Given the description of an element on the screen output the (x, y) to click on. 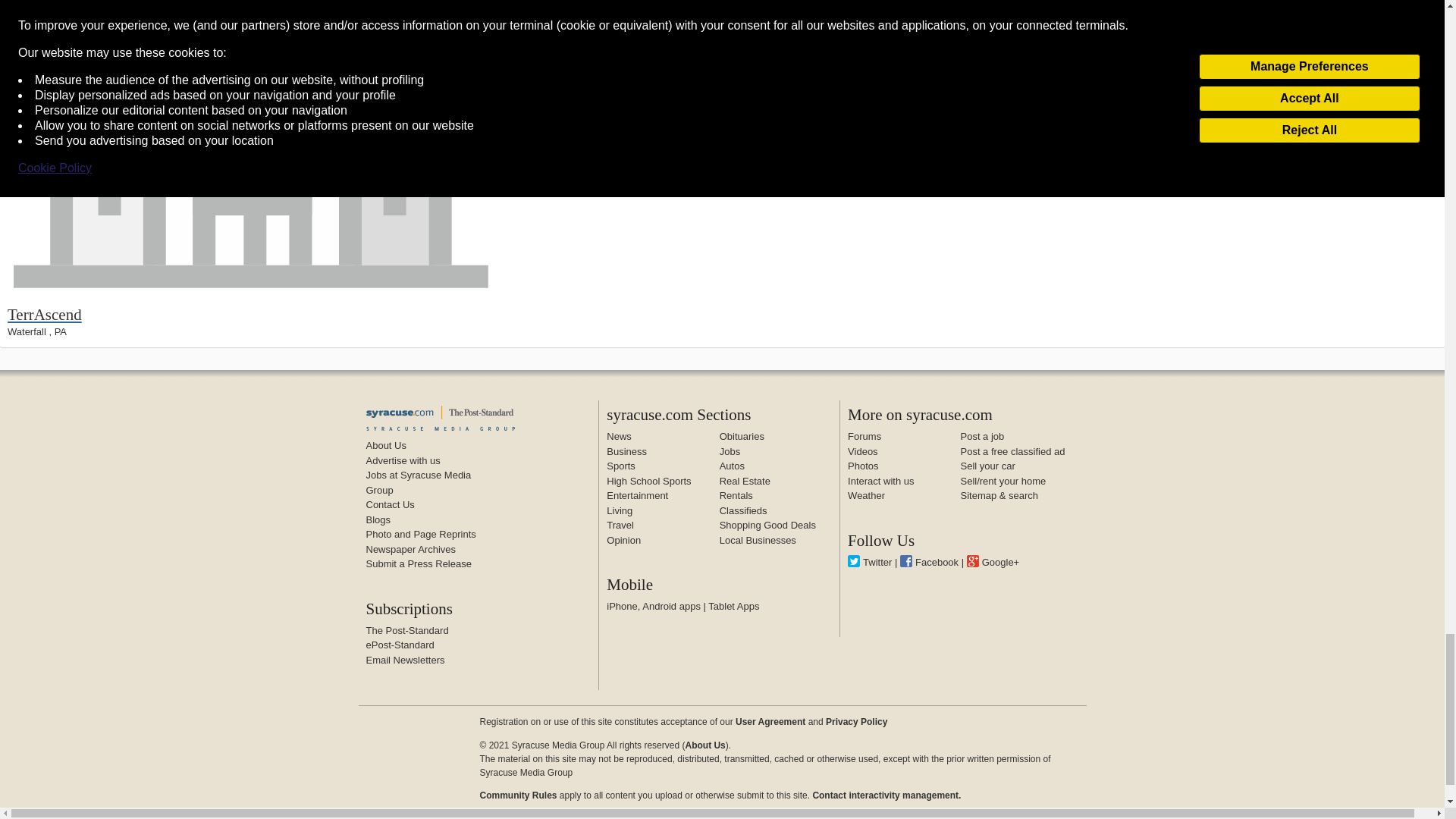
Contact Us (389, 504)
Community Rules (517, 795)
User Agreement (770, 721)
Privacy Policy (855, 721)
Contact Interactivity Management (886, 795)
